Given the description of an element on the screen output the (x, y) to click on. 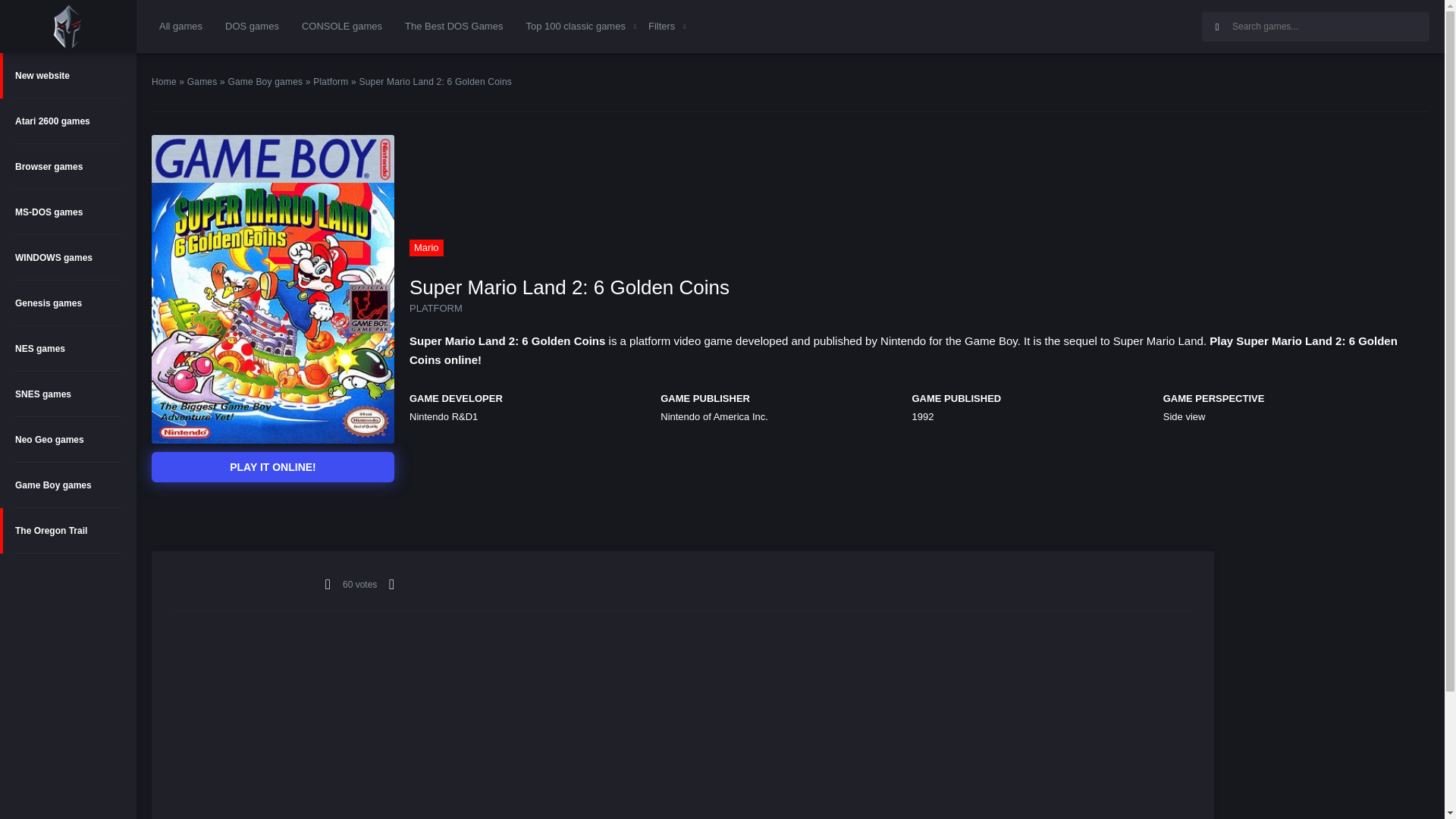
Atari 2600 games (68, 121)
All games (180, 25)
DOS games (252, 25)
Play Super Mario Land 2: 6 Golden Coins online (272, 467)
Filters (661, 25)
Top 100 classic games (575, 25)
Play CLASSIC games online (68, 26)
CONSOLE games (341, 25)
The Best DOS Games (453, 25)
Play Classic games online (67, 26)
New website (68, 75)
